Given the description of an element on the screen output the (x, y) to click on. 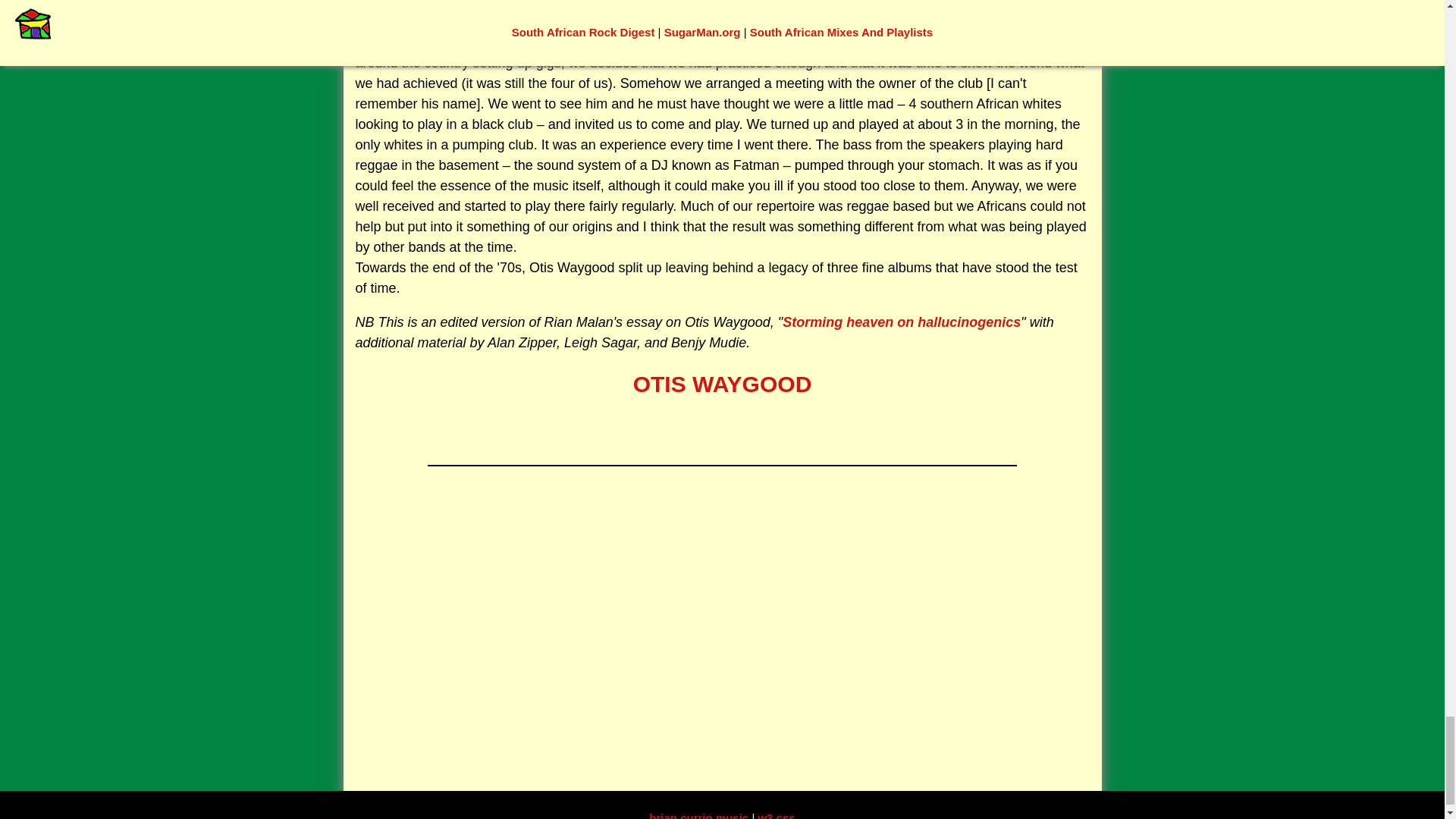
Brian Currin Music (700, 815)
Storming heaven on hallucinogenics (901, 322)
w3.css (775, 815)
W3 Schools (775, 815)
brian currin music (700, 815)
OTIS WAYGOOD (722, 383)
